Given the description of an element on the screen output the (x, y) to click on. 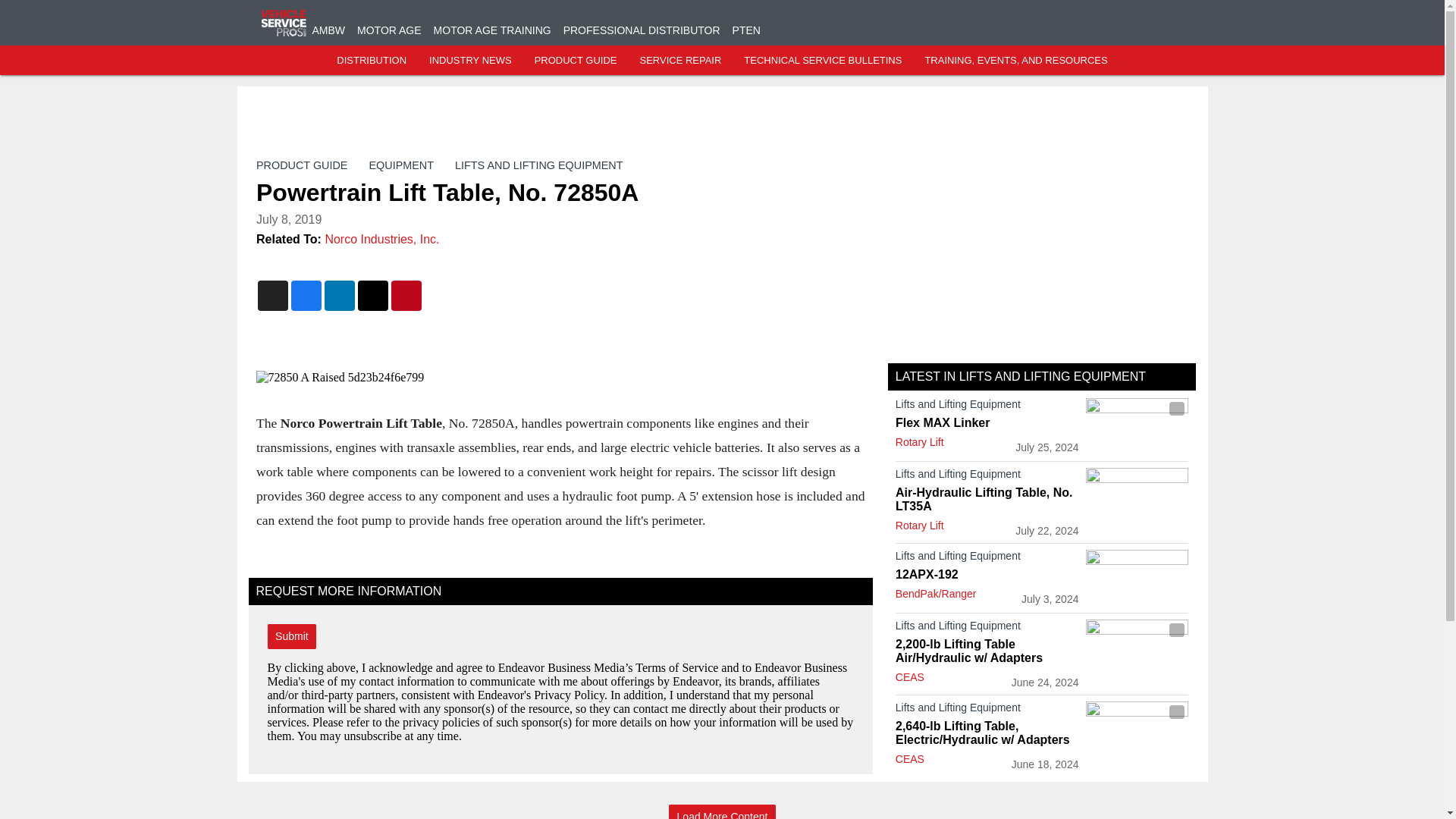
Lifts and Lifting Equipment (986, 476)
PRODUCT GUIDE (301, 164)
PROFESSIONAL DISTRIBUTOR (641, 30)
Air-Hydraulic Lifting Table, No. LT35A (986, 499)
MOTOR AGE TRAINING (492, 30)
MOTOR AGE (389, 30)
Lifts and Lifting Equipment (986, 407)
Flex MAX Linker (986, 422)
EQUIPMENT (400, 164)
AMBW (329, 30)
Norco Industries, Inc. (381, 238)
TRAINING, EVENTS, AND RESOURCES (1015, 60)
PRODUCT GUIDE (575, 60)
12APX-192 (986, 574)
Lifts and Lifting Equipment (986, 628)
